Given the description of an element on the screen output the (x, y) to click on. 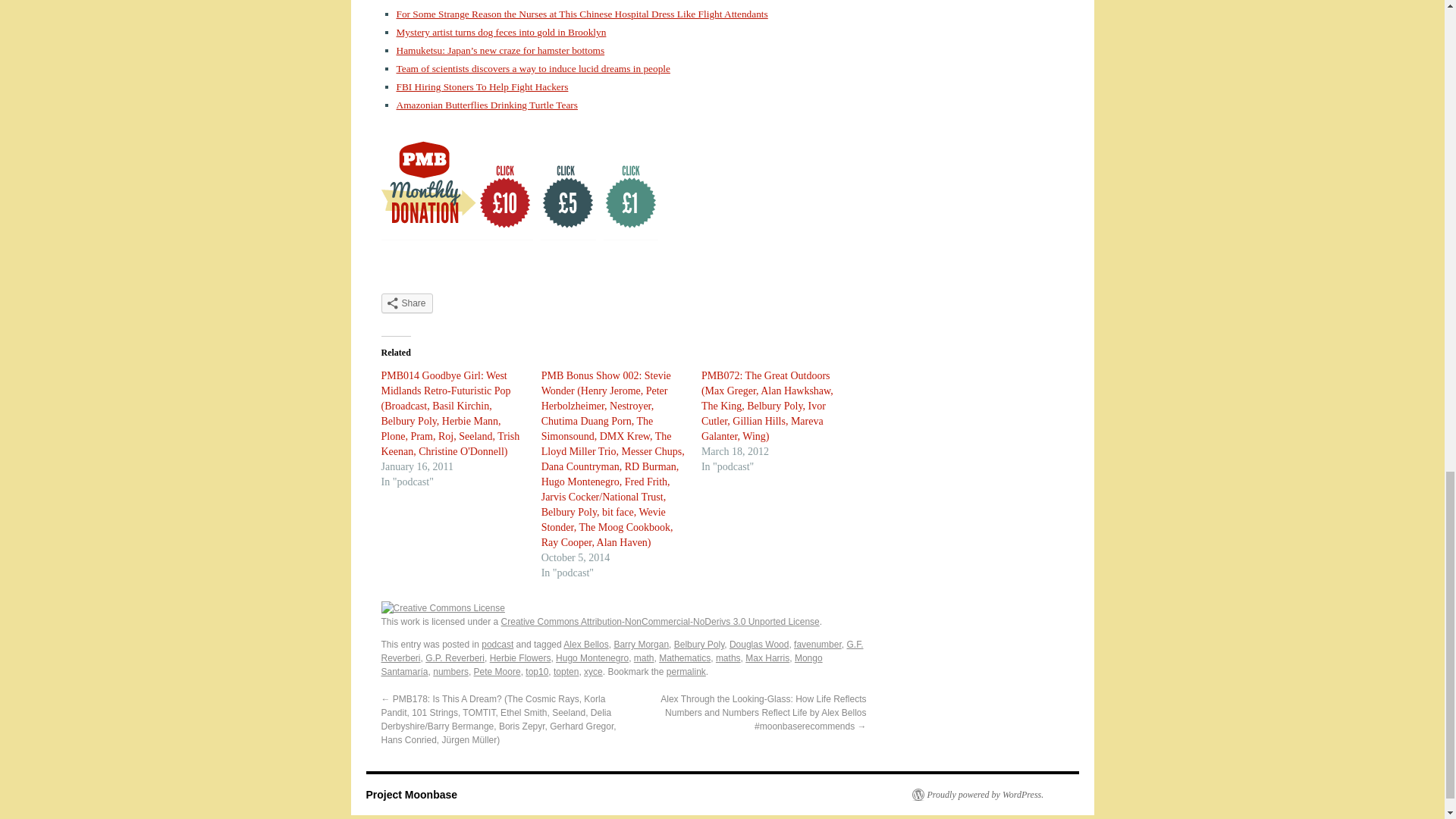
Mystery artist turns dog feces into gold in Brooklyn (500, 31)
